Given the description of an element on the screen output the (x, y) to click on. 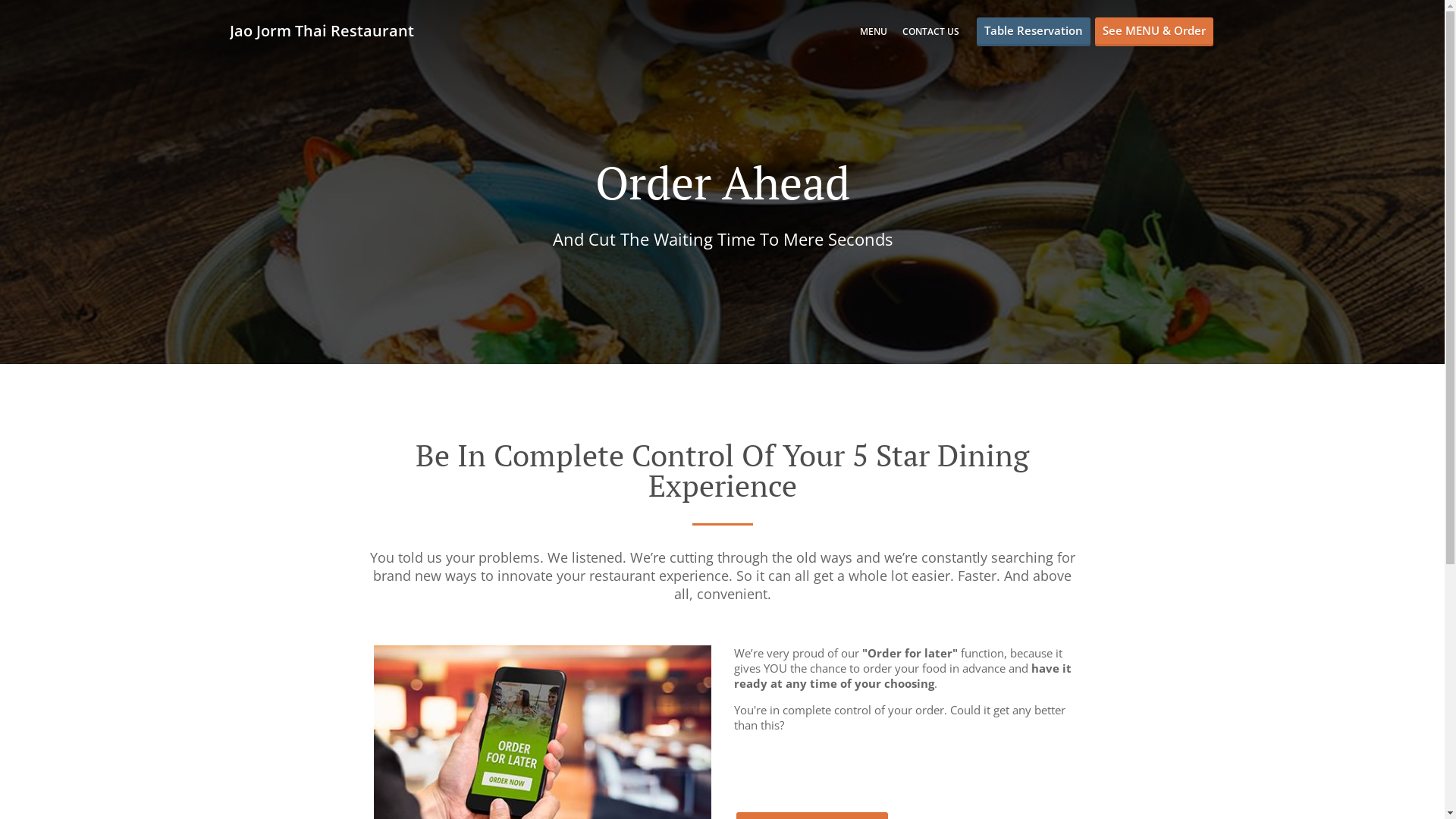
MENU Element type: text (873, 31)
CONTACT US Element type: text (930, 31)
Jao Jorm Thai Restaurant Element type: text (328, 30)
